Given the description of an element on the screen output the (x, y) to click on. 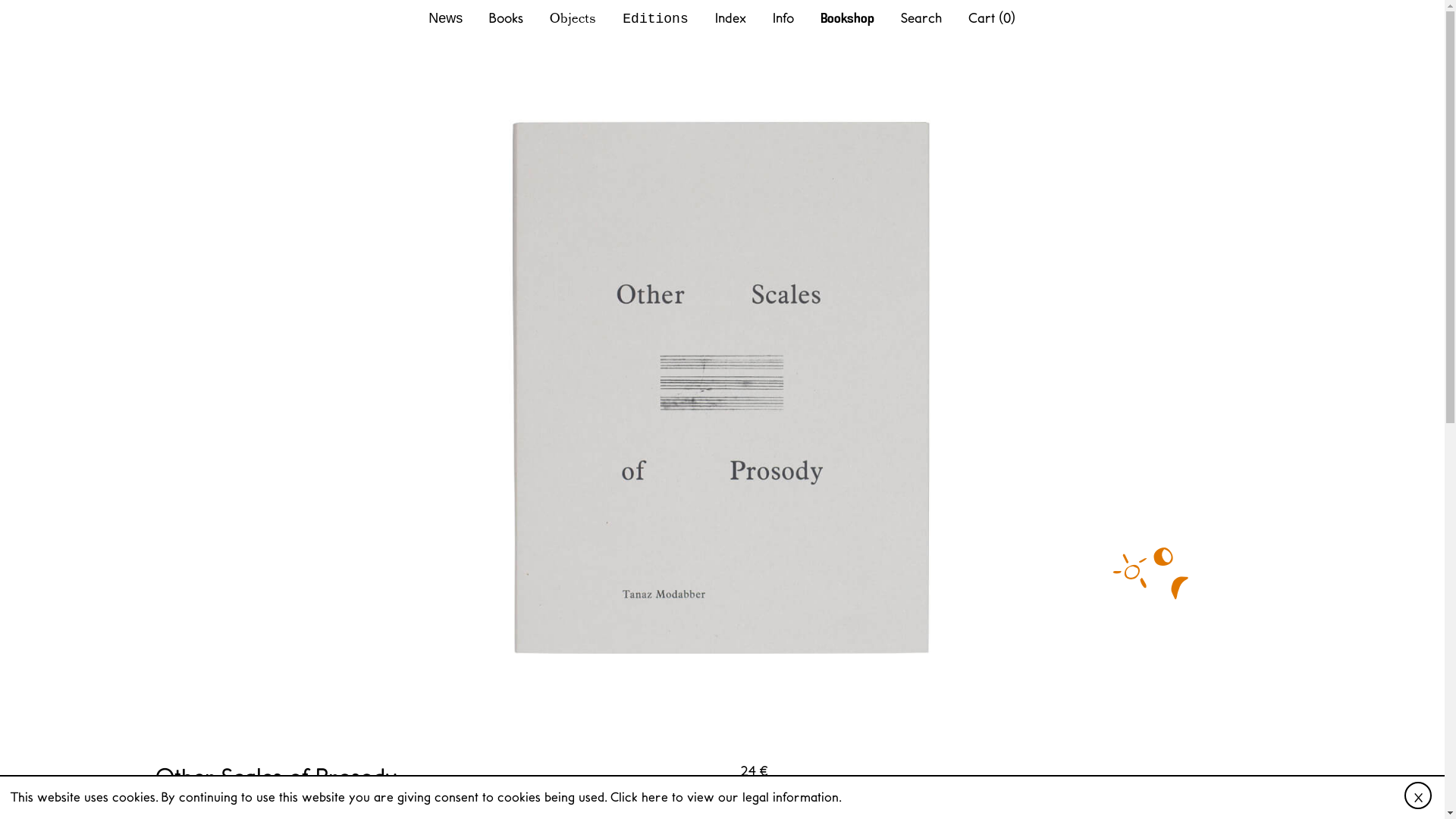
Books (505, 17)
Click here to view our legal information (724, 796)
News (445, 18)
Editions (655, 19)
Index (729, 17)
Add to cart (778, 792)
Bookshop (848, 18)
Objects (572, 17)
Info (783, 17)
